Given the description of an element on the screen output the (x, y) to click on. 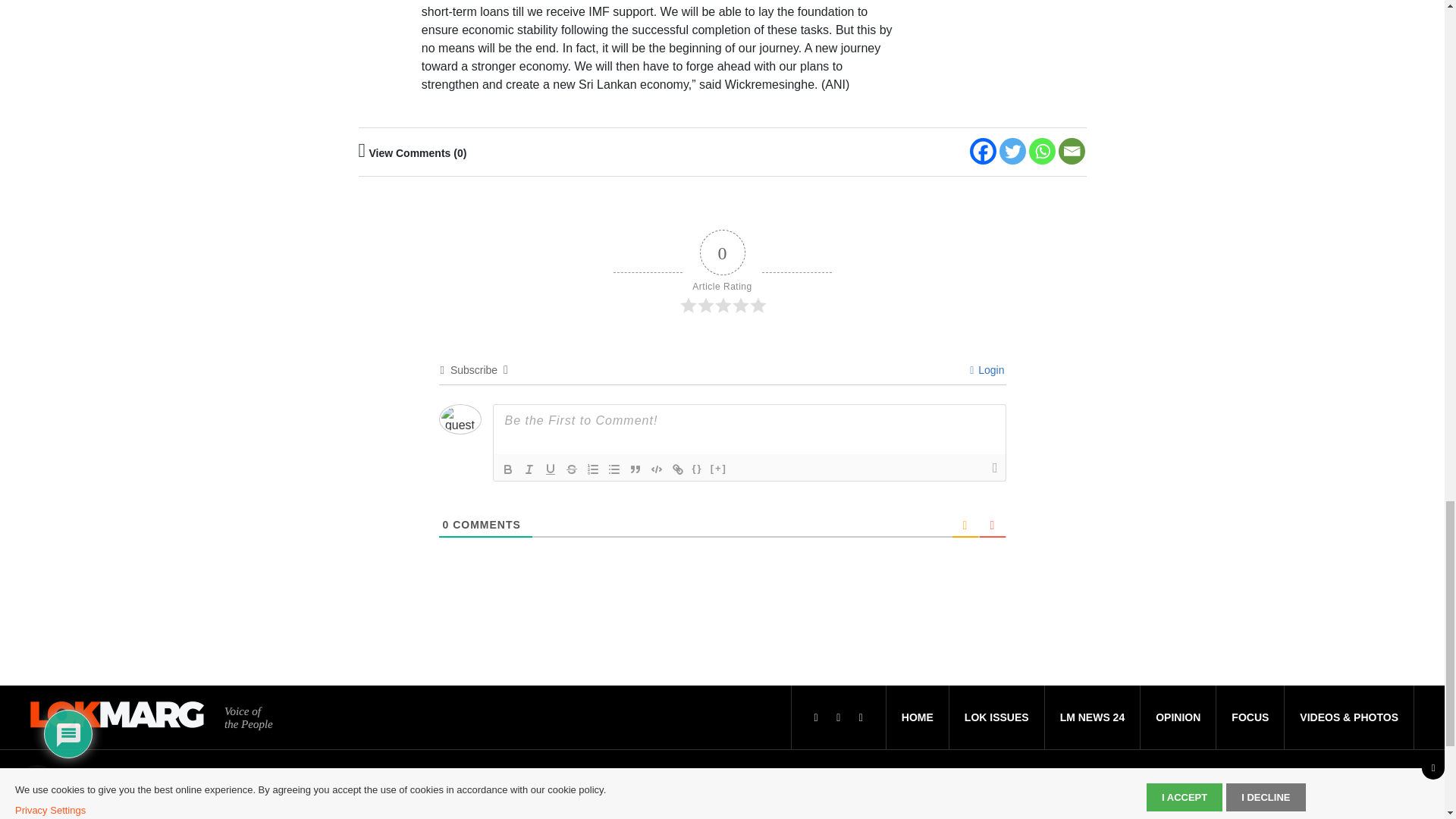
Login (986, 369)
